Given the description of an element on the screen output the (x, y) to click on. 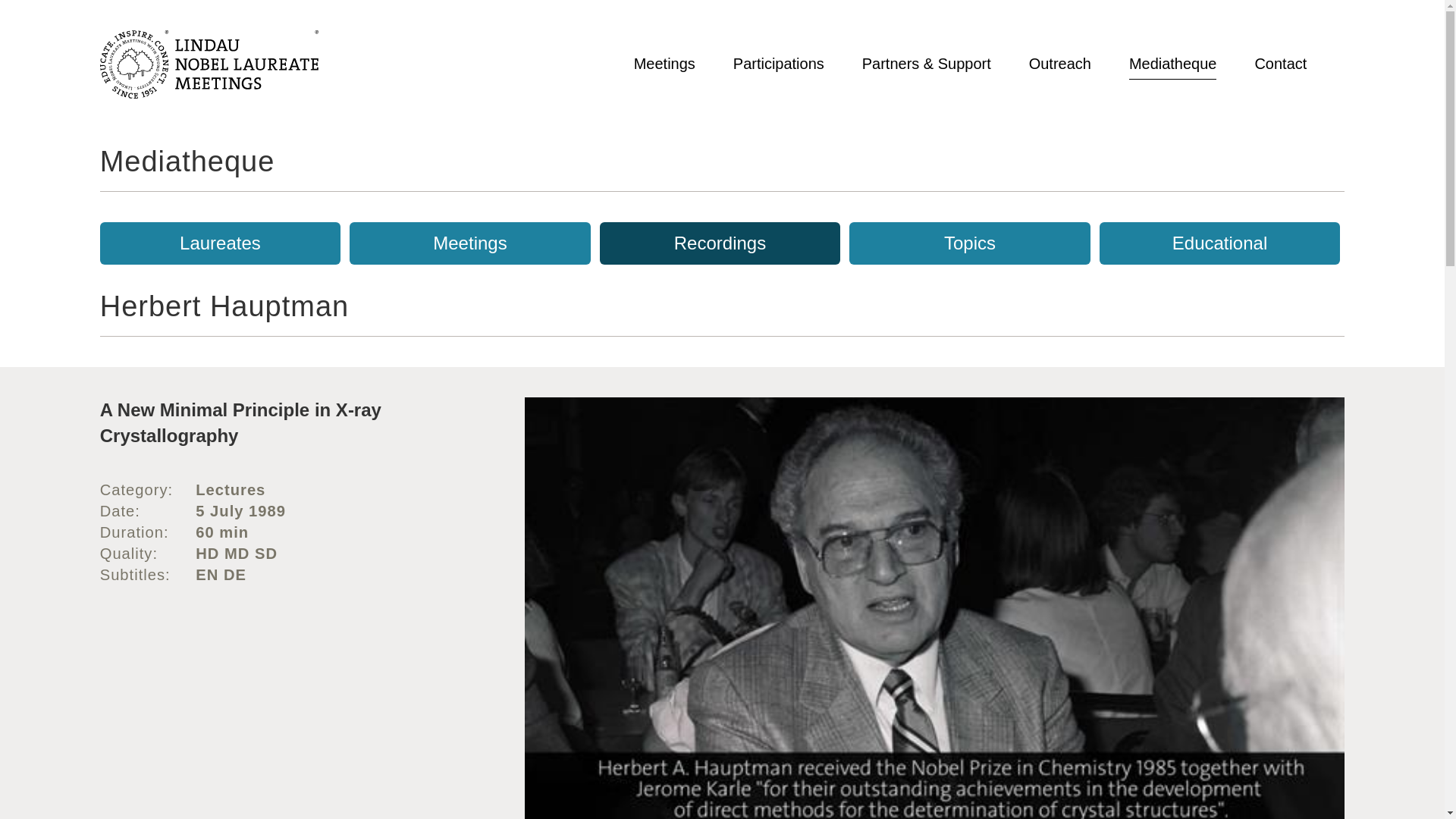
Participations (778, 63)
Mediatheque (1173, 63)
Mediatheque (187, 161)
Meetings (664, 63)
Outreach (1059, 63)
